Given the description of an element on the screen output the (x, y) to click on. 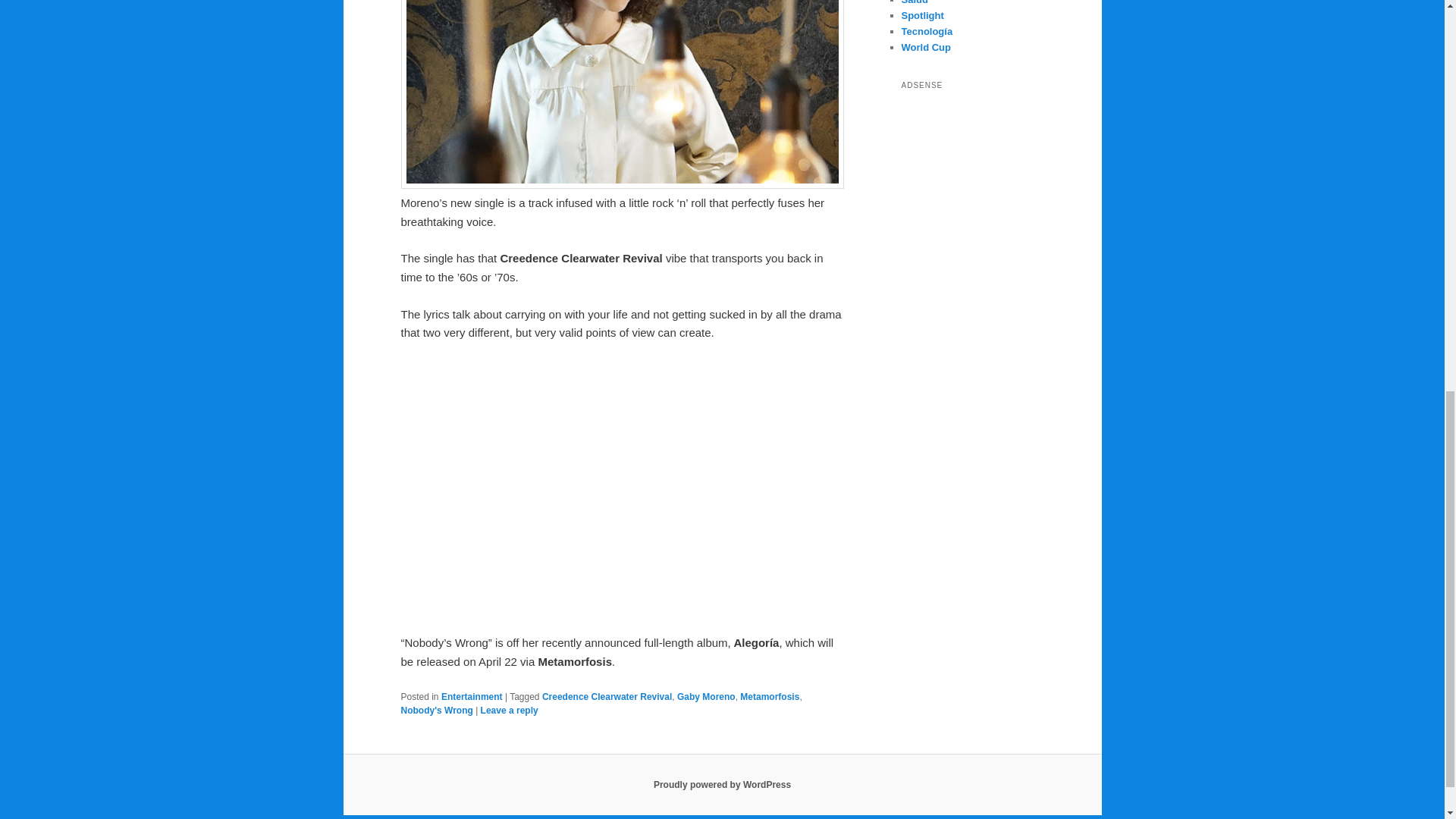
Gaby Moreno (706, 696)
Metamorfosis (769, 696)
Entertainment (471, 696)
Spotlight (922, 15)
Semantic Personal Publishing Platform (721, 784)
Salud (914, 2)
Nobody's Wrong (435, 710)
Leave a reply (509, 710)
Creedence Clearwater Revival (606, 696)
